Given the description of an element on the screen output the (x, y) to click on. 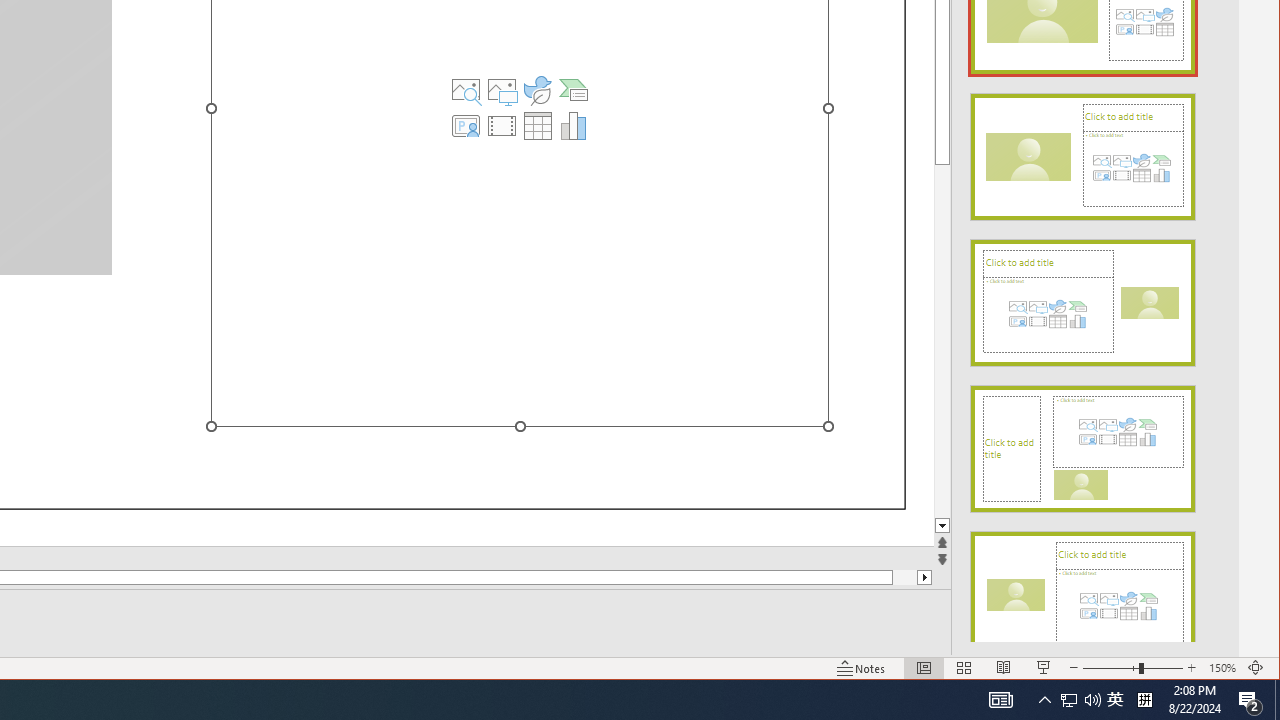
Insert an Icon (538, 89)
Insert Cameo (466, 125)
Stock Images (466, 89)
